Given the description of an element on the screen output the (x, y) to click on. 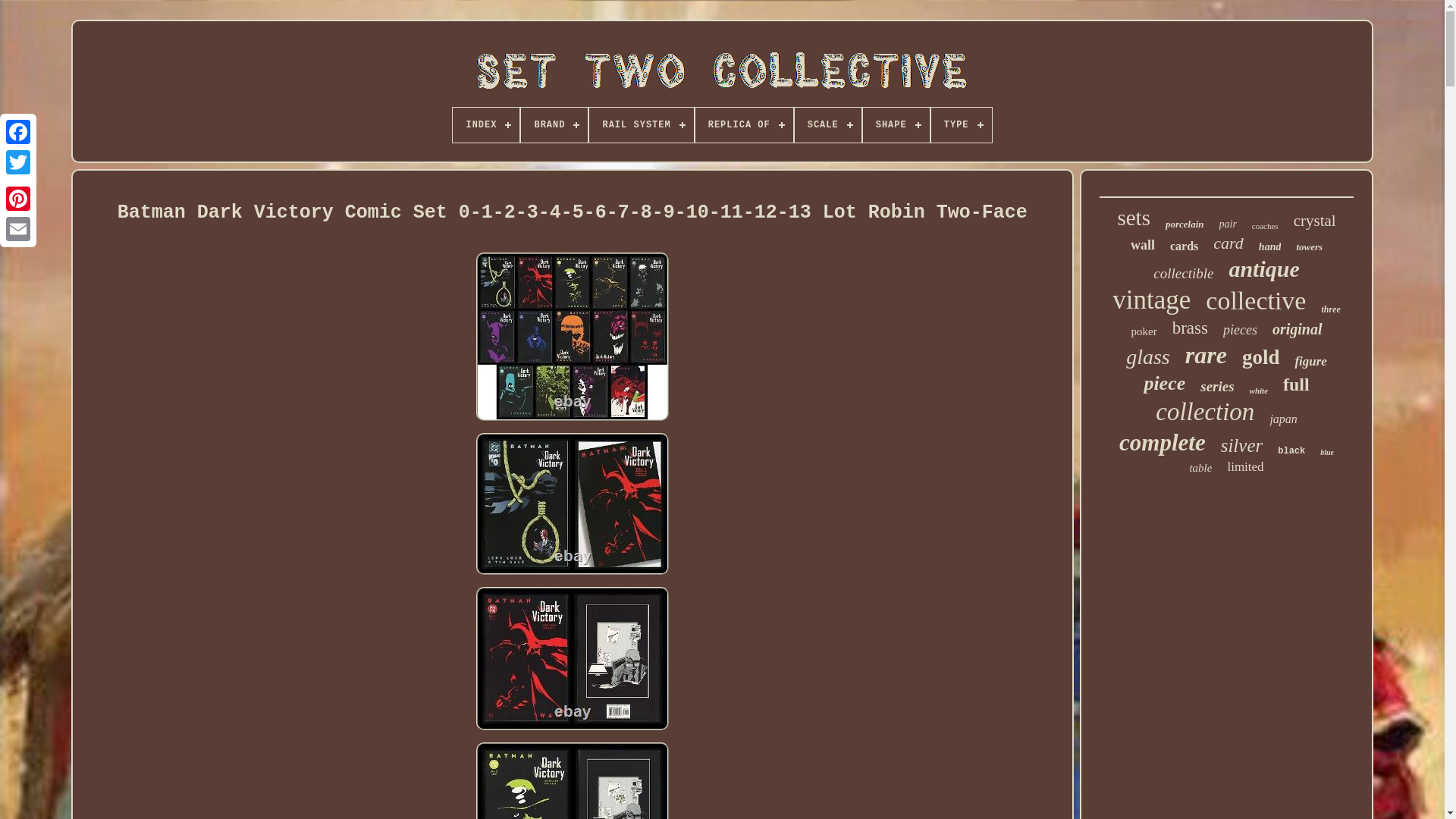
REPLICA OF (744, 124)
INDEX (485, 124)
RAIL SYSTEM (641, 124)
BRAND (554, 124)
